Given the description of an element on the screen output the (x, y) to click on. 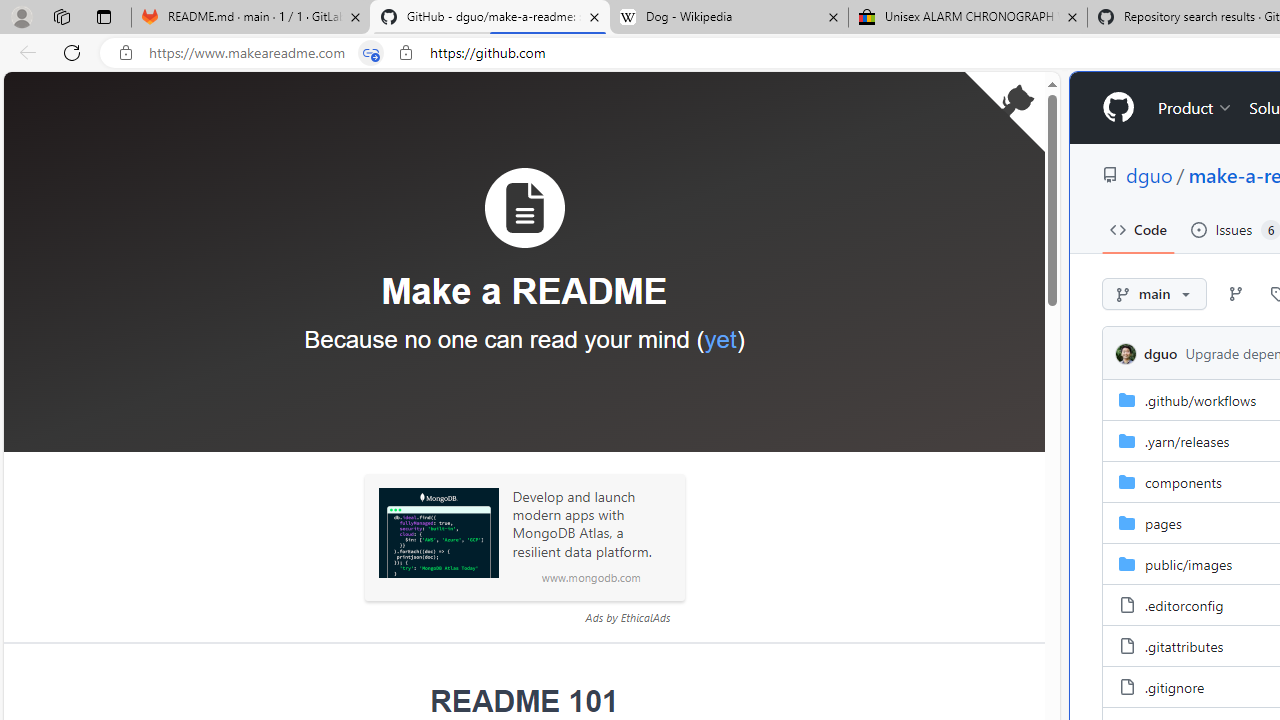
Ads by EthicalAds (627, 617)
Sponsored: MongoDB (438, 533)
Product (1195, 107)
Go to Branches page (1236, 293)
pages, (Directory) (1163, 522)
